Given the description of an element on the screen output the (x, y) to click on. 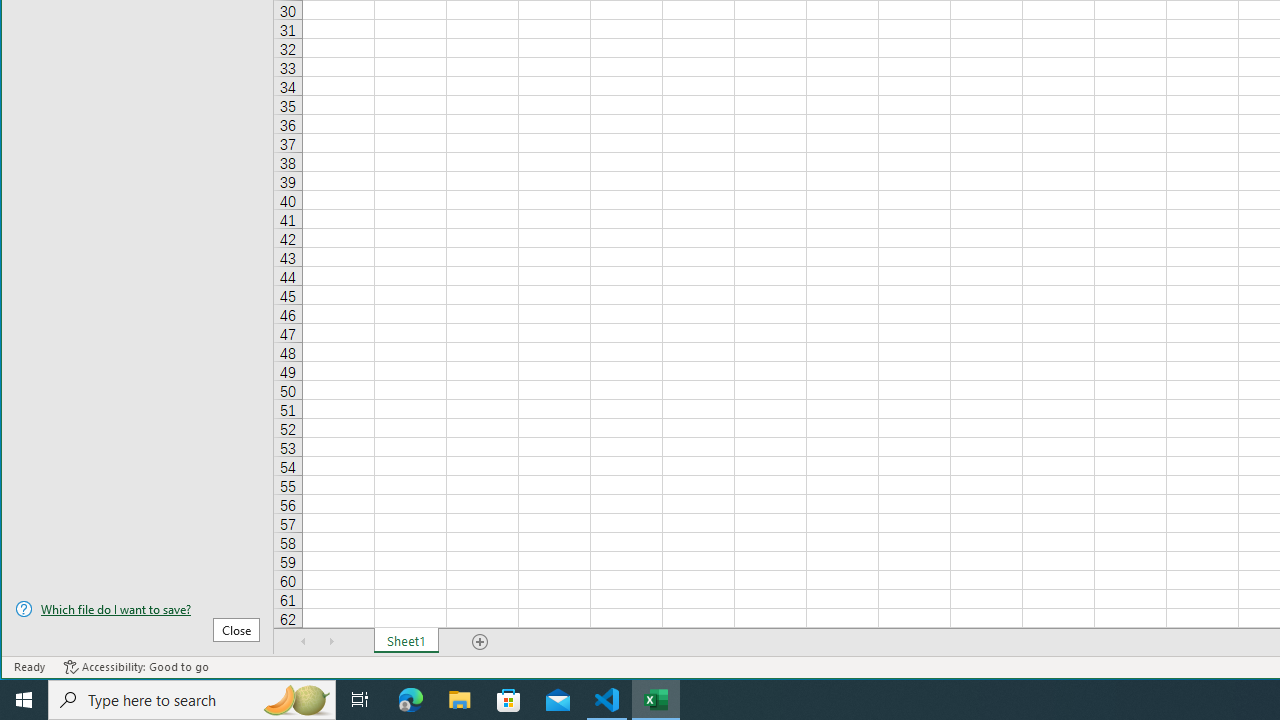
Start (24, 699)
Microsoft Edge (411, 699)
Task View (359, 699)
Which file do I want to save? (137, 609)
Visual Studio Code - 1 running window (607, 699)
Sheet1 (406, 641)
Microsoft Store (509, 699)
Type here to search (191, 699)
Close (235, 629)
Accessibility Checker Accessibility: Good to go (136, 667)
File Explorer (460, 699)
Add Sheet (481, 641)
Excel - 1 running window (656, 699)
Scroll Left (303, 641)
